Given the description of an element on the screen output the (x, y) to click on. 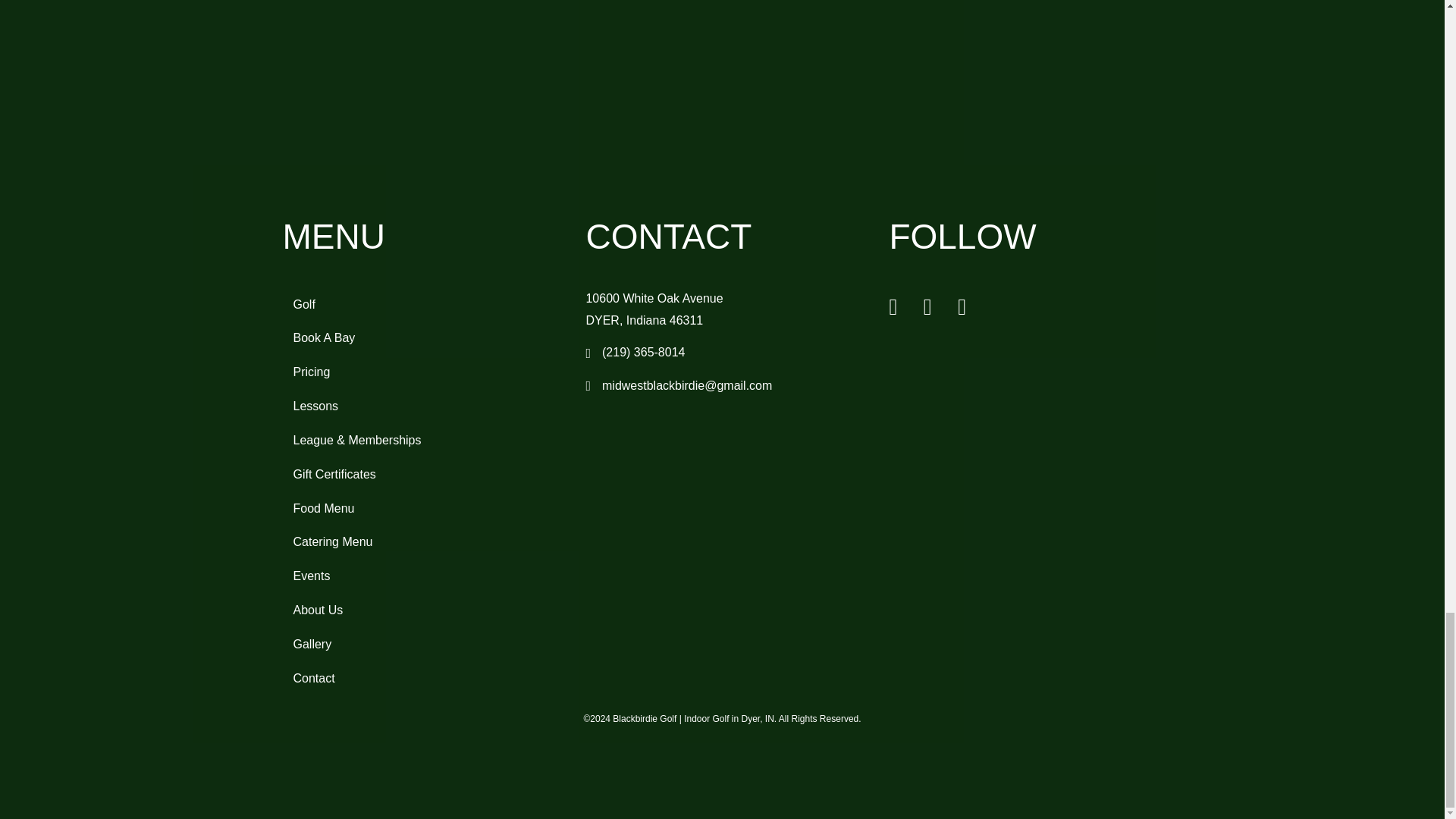
Lessons (418, 406)
Gift Certificates (418, 474)
Golf (418, 304)
Catering Menu (418, 541)
About Us (418, 610)
Book A Bay (418, 337)
Gallery (418, 644)
Contact (418, 678)
blackbirdie crest (722, 77)
Events (418, 575)
Food Menu (418, 508)
Pricing (418, 372)
